Given the description of an element on the screen output the (x, y) to click on. 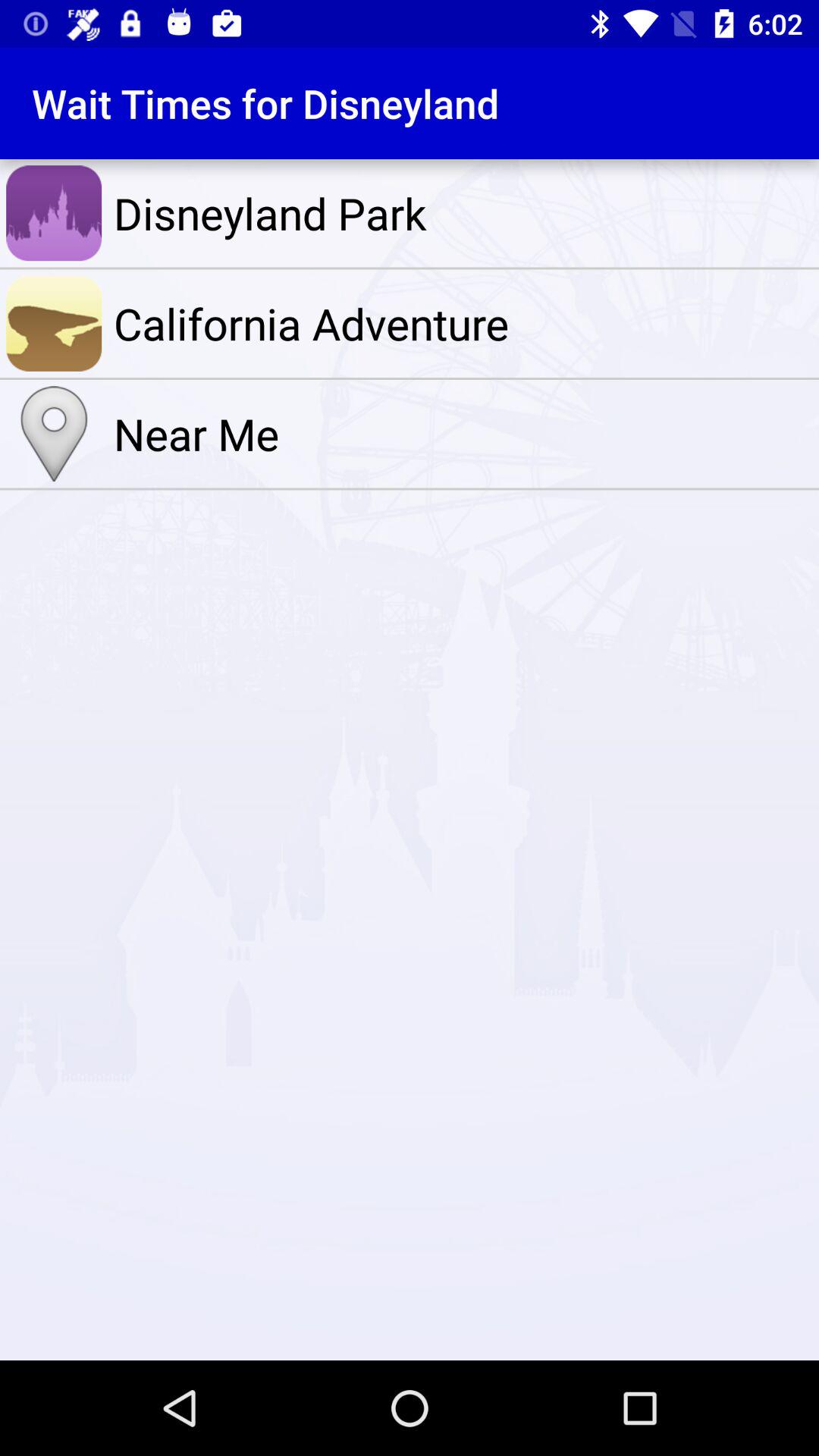
select the near me icon (462, 433)
